Given the description of an element on the screen output the (x, y) to click on. 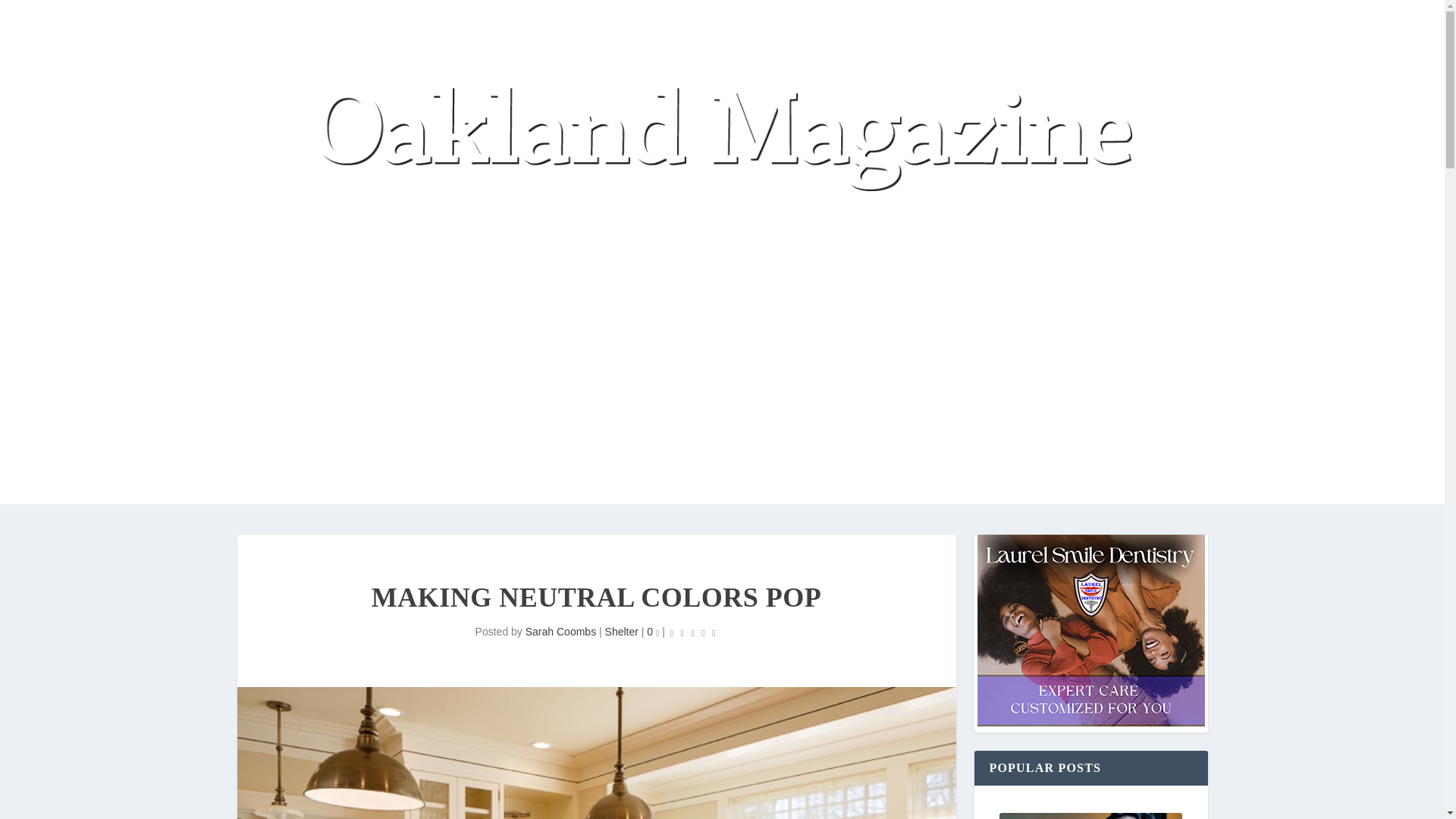
Follow on Facebook (873, 399)
Follow on Twitter (843, 399)
Follow on Instagram (903, 399)
0 (652, 631)
Contact Us (471, 401)
Best of Oakland Ballot (885, 205)
Advertise (407, 401)
Follow Us (537, 401)
School Open Houses (665, 205)
Posts by Sarah Coombs (560, 631)
Newsletters (340, 401)
comment count (657, 633)
Shelter (622, 631)
Calendar (334, 205)
Sarah Coombs (560, 631)
